Given the description of an element on the screen output the (x, y) to click on. 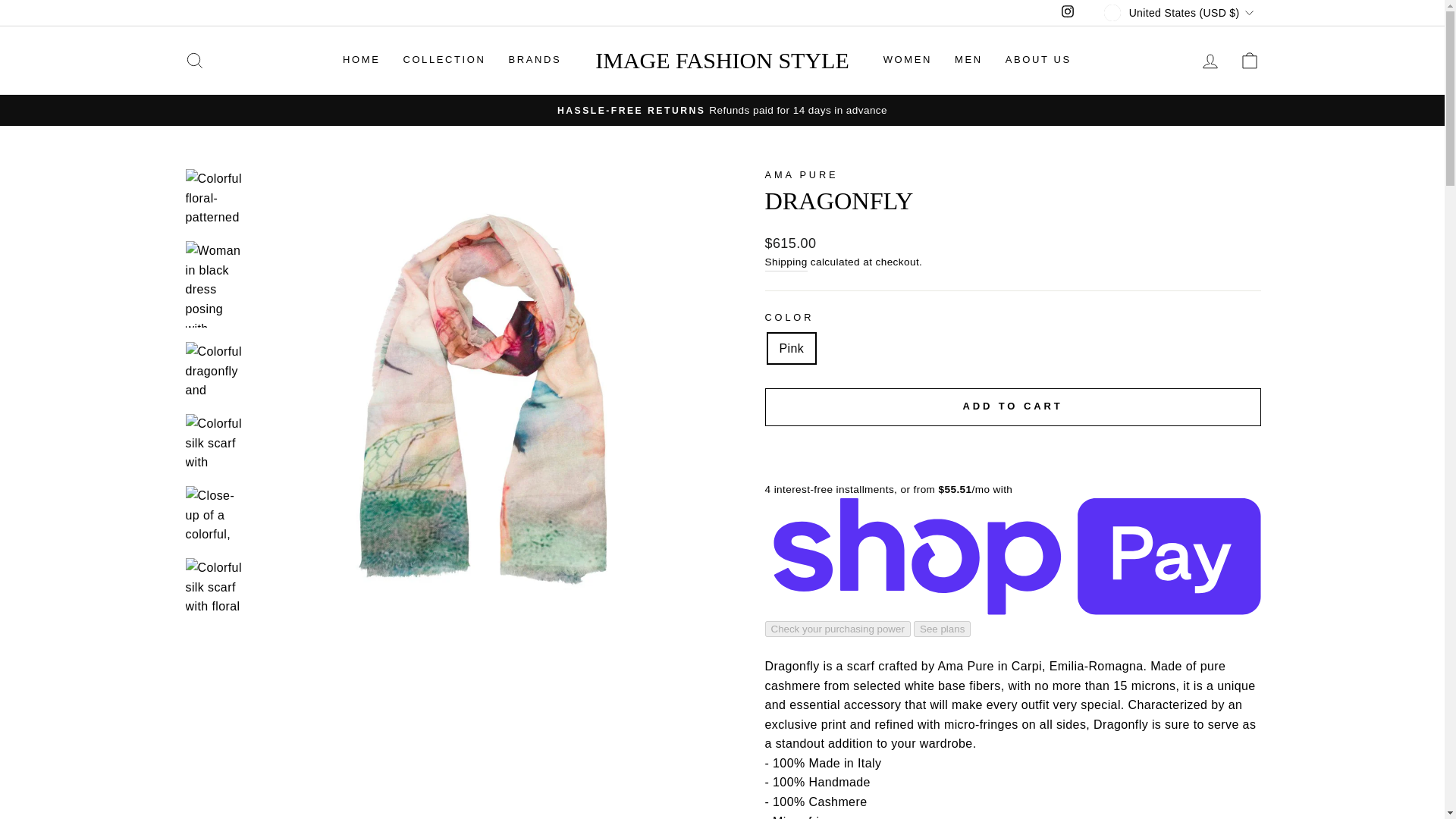
ACCOUNT (1210, 60)
instagram (1067, 10)
ICON-SEARCH (194, 60)
ICON-BAG-MINIMAL (1249, 60)
